Given the description of an element on the screen output the (x, y) to click on. 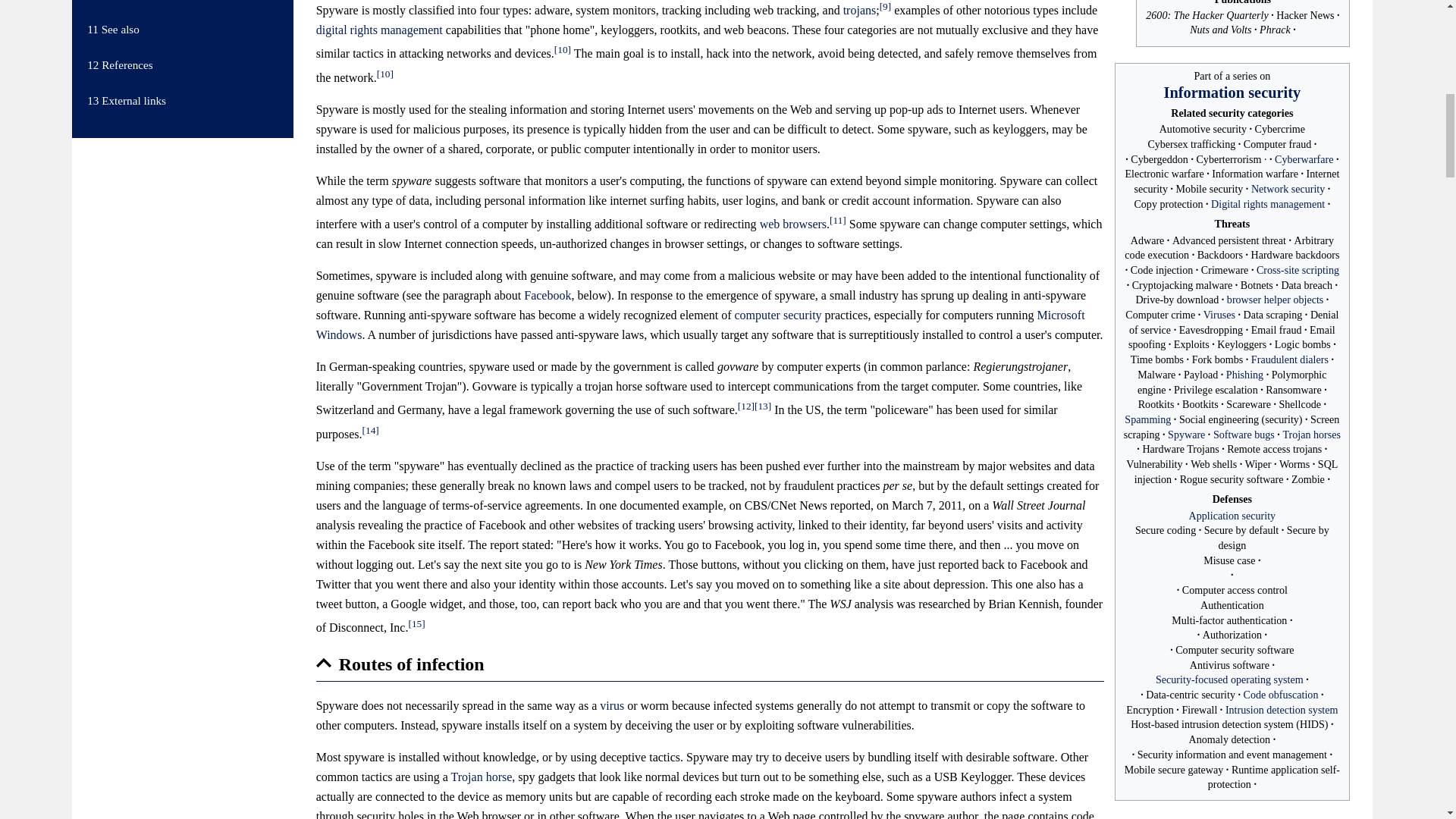
Browser helper object (1275, 299)
Network security (1287, 188)
Cross-site scripting (1297, 269)
Information security (1231, 92)
Dialer (1288, 358)
Cyberwarfare (1304, 159)
Computer virus (1219, 314)
Phishing (1244, 374)
Digital rights management (1267, 203)
